Given the description of an element on the screen output the (x, y) to click on. 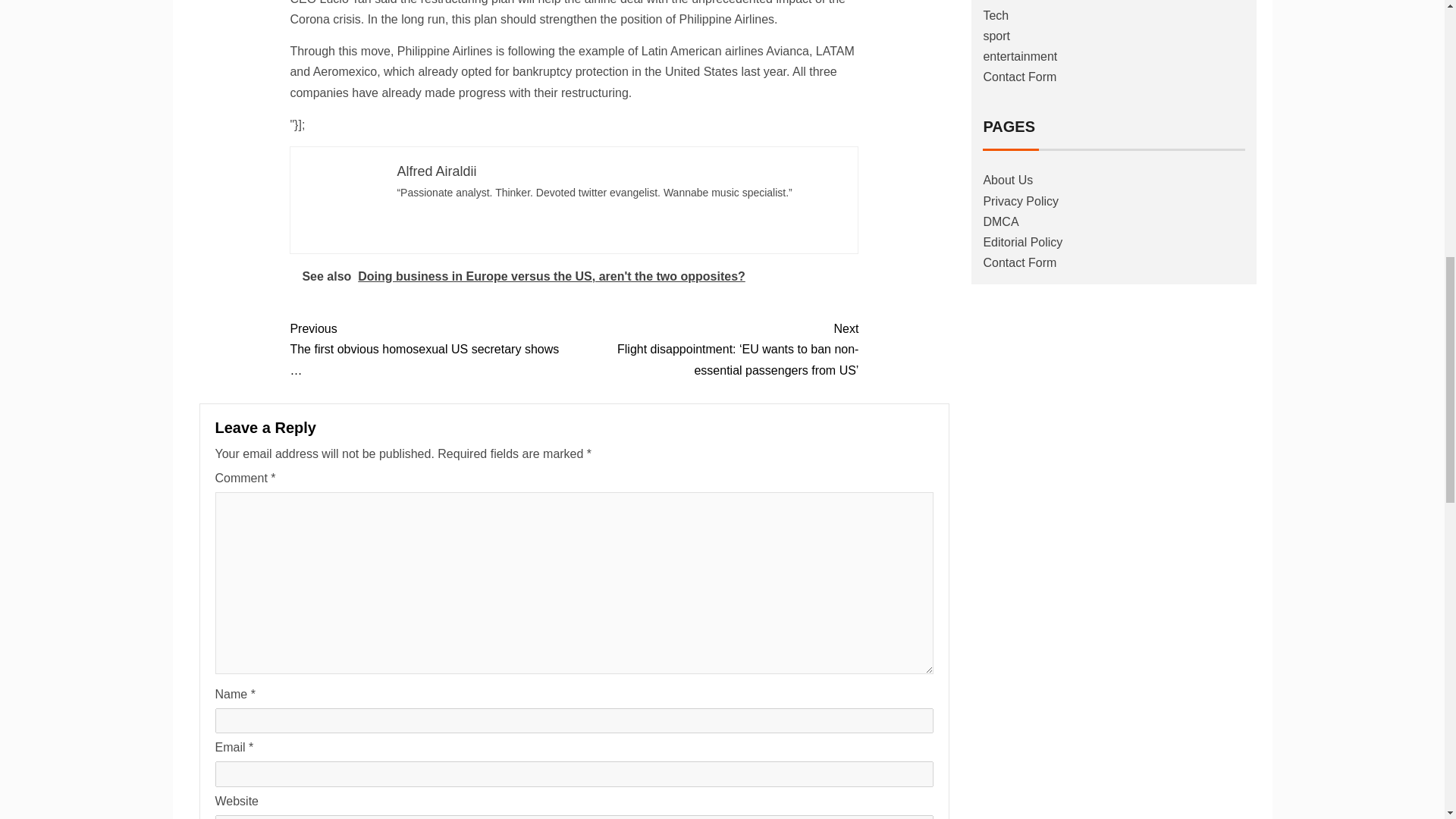
Alfred Airaldii (436, 171)
